Given the description of an element on the screen output the (x, y) to click on. 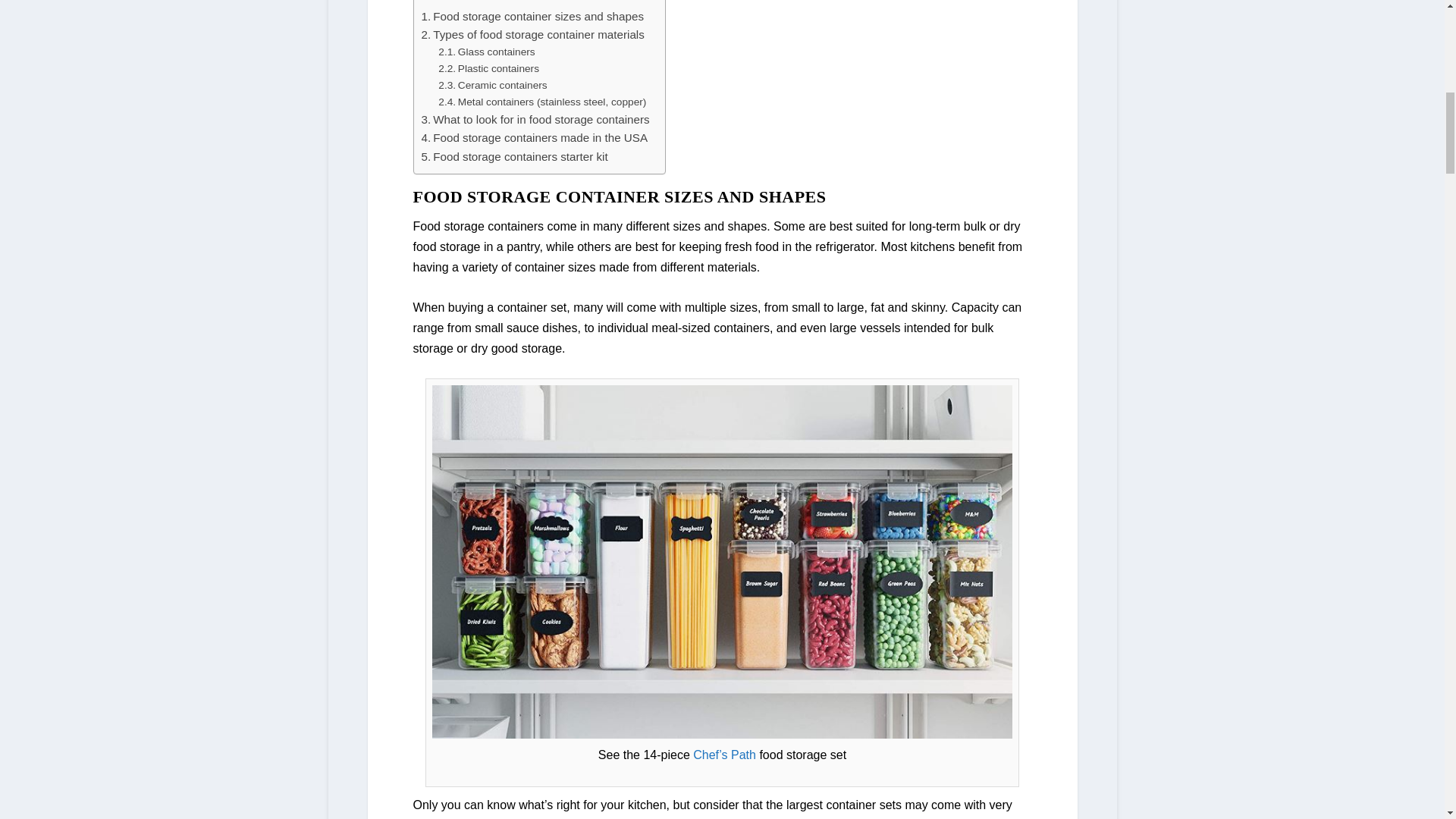
Plastic containers (488, 68)
Food storage containers made in the USA (534, 137)
Food storage containers made in the USA (534, 137)
Types of food storage container materials (533, 34)
Ceramic containers (492, 85)
Glass containers (486, 52)
Food storage container sizes and shapes (532, 16)
Food storage container sizes and shapes (532, 16)
Food storage containers starter kit (515, 157)
Types of food storage container materials (533, 34)
